Given the description of an element on the screen output the (x, y) to click on. 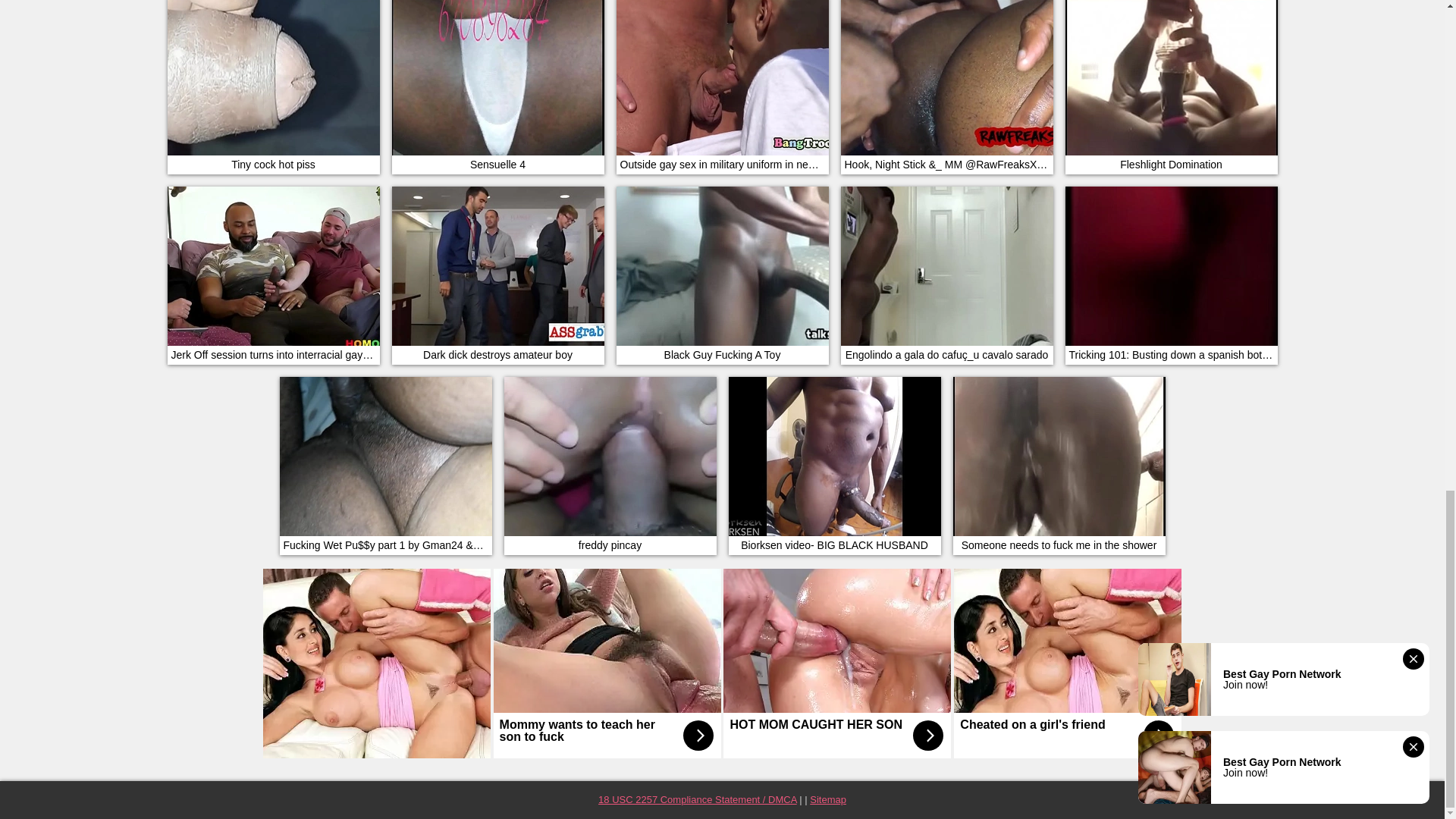
Black Guy Fucking A Toy (721, 275)
Black Guy Fucking A Toy (721, 275)
Outside gay sex in military uniform in new gay reality show (721, 86)
Dark dick destroys amateur boy (497, 275)
Fleshlight Domination (1170, 86)
Someone needs to fuck me in the shower (1058, 464)
Sensuelle 4 (497, 86)
freddy pincay (609, 464)
Jerk Off session turns into interracial gay threesome (272, 275)
Outside gay sex in military uniform in new gay reality show (721, 86)
Tiny cock hot piss (272, 86)
Mommy wants to teach her son to fuck (606, 663)
Jerk Off session turns into interracial gay threesome (272, 275)
Biorksen video- BIG BLACK HUSBAND (834, 464)
Fleshlight Domination (1170, 86)
